Given the description of an element on the screen output the (x, y) to click on. 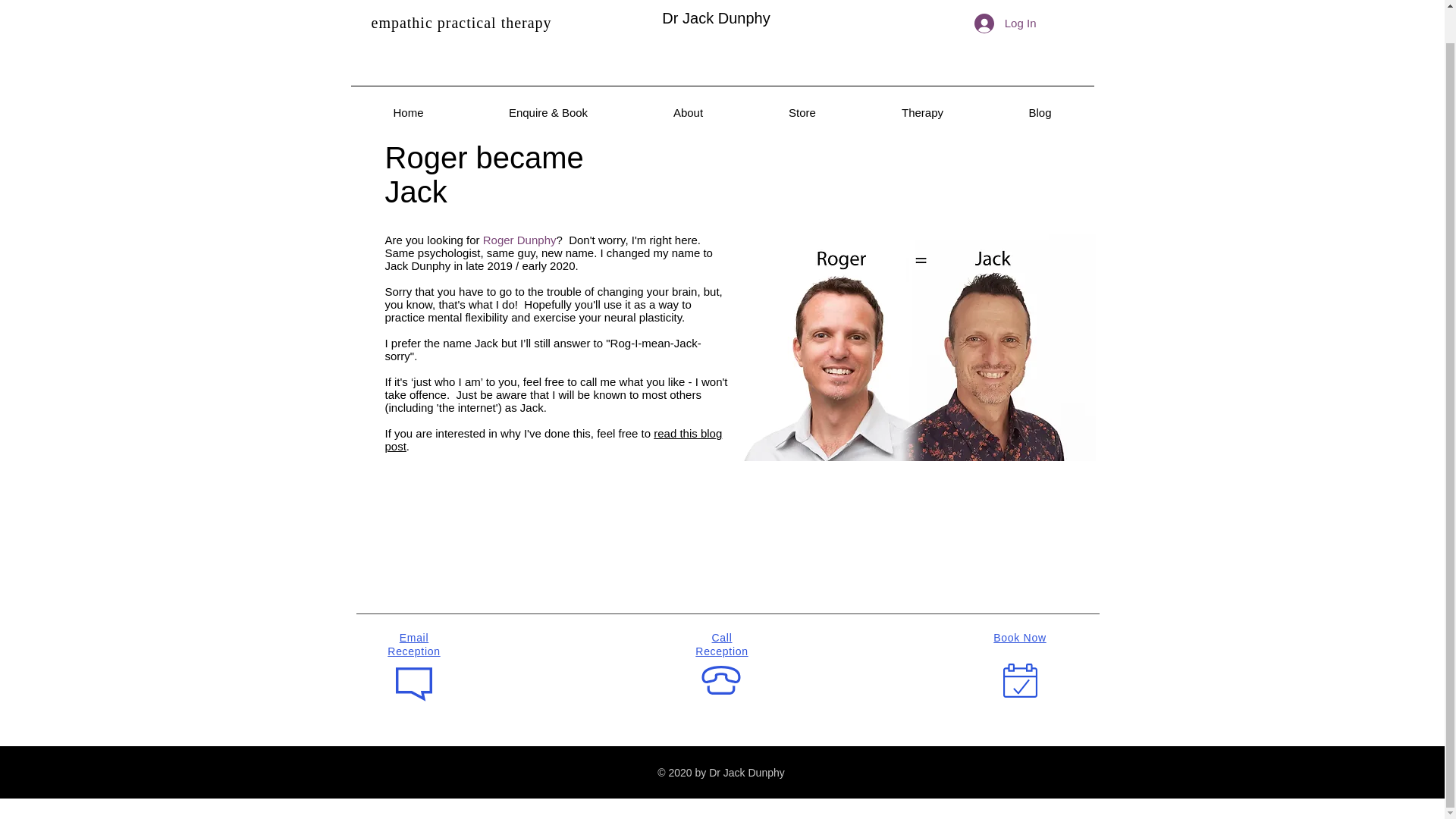
Home (407, 78)
Book Now (1018, 637)
Call Reception (721, 644)
Store (802, 78)
Log In (1004, 2)
Roger equals Jack.jpg (913, 347)
read this blog post (553, 439)
Email Reception (413, 644)
Blog (1039, 78)
Roger Dunphy (519, 239)
